Given the description of an element on the screen output the (x, y) to click on. 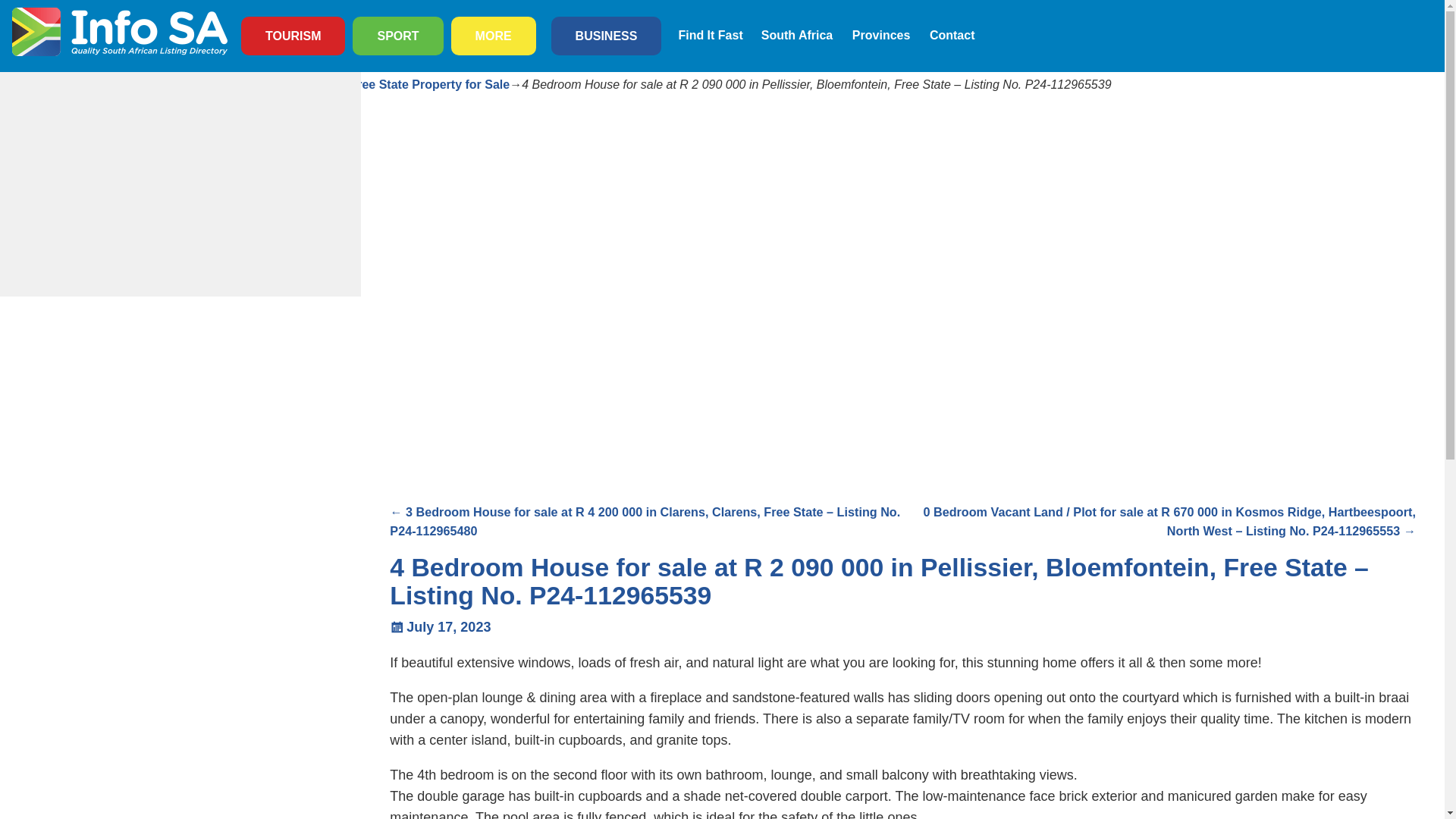
South Africa (797, 35)
BUSINESS (606, 35)
Advertisement (471, 394)
TOURISM (293, 35)
Find It Fast (709, 35)
5:25 pm (440, 626)
SPORT (398, 35)
Provinces (881, 35)
MORE (493, 35)
Contact (952, 35)
